Given the description of an element on the screen output the (x, y) to click on. 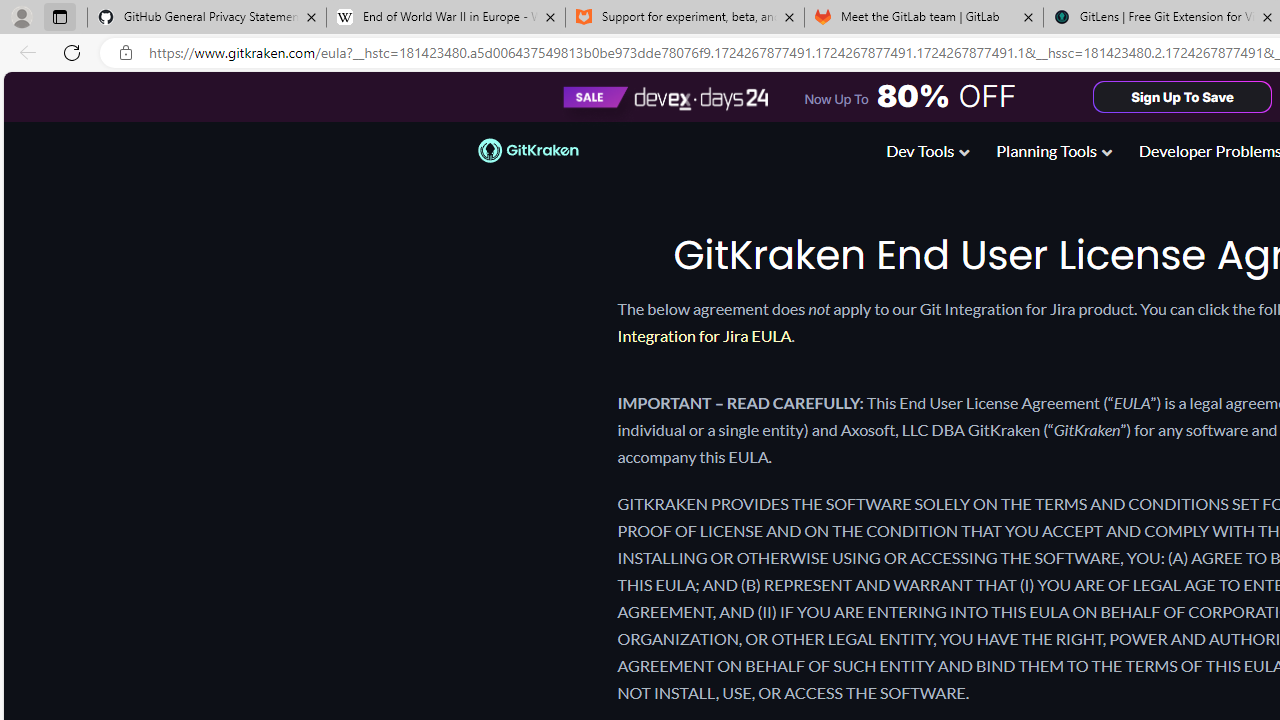
Sign Up To Save (1183, 96)
